Given the description of an element on the screen output the (x, y) to click on. 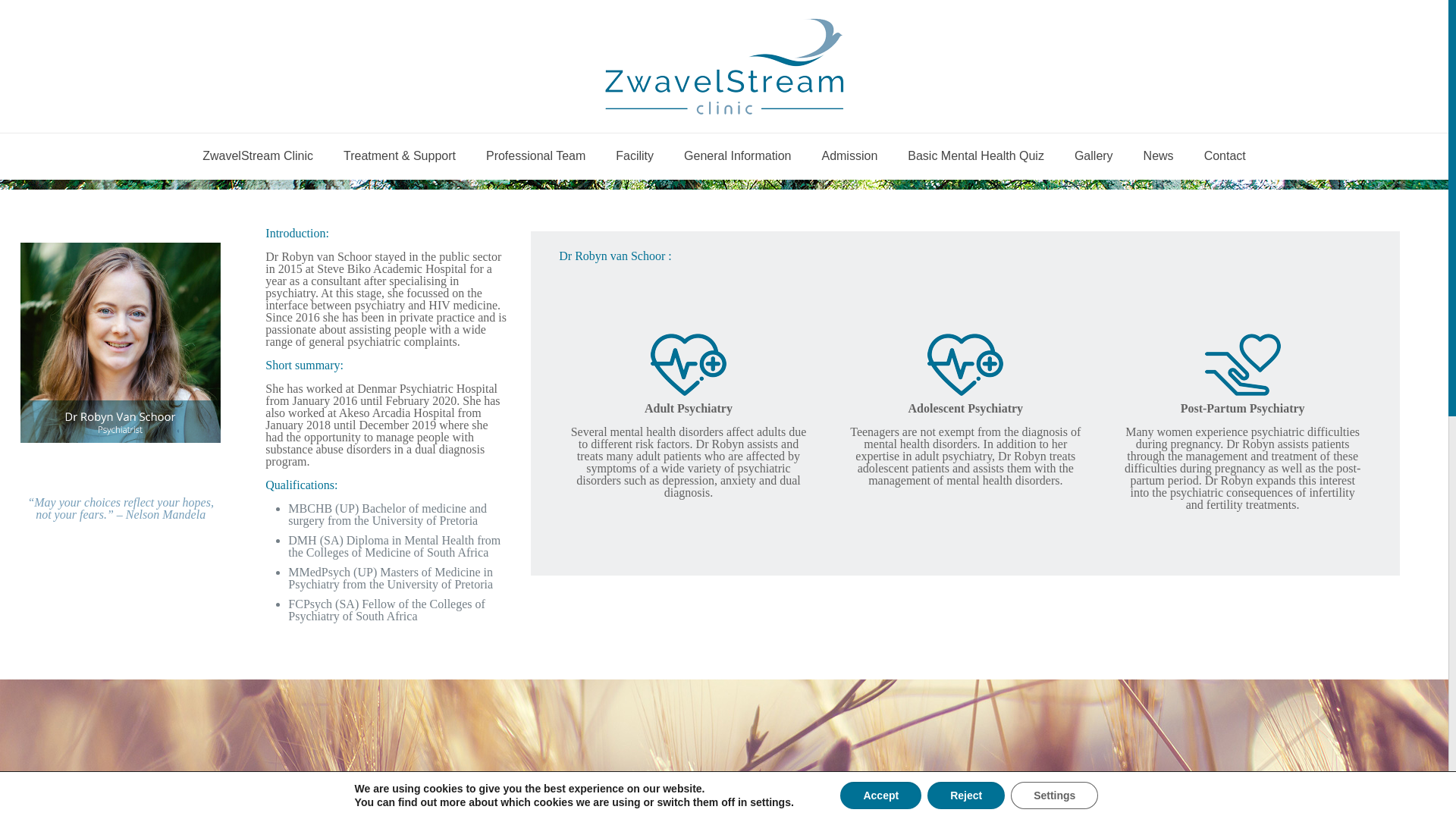
Admission (849, 156)
zwavelstreamclinic.co.za (724, 66)
News (1158, 156)
ZwavelStream Clinic (258, 156)
Basic Mental Health Quiz (975, 156)
Gallery (1093, 156)
Professional Team (534, 156)
Facility (633, 156)
General Information (737, 156)
